Given the description of an element on the screen output the (x, y) to click on. 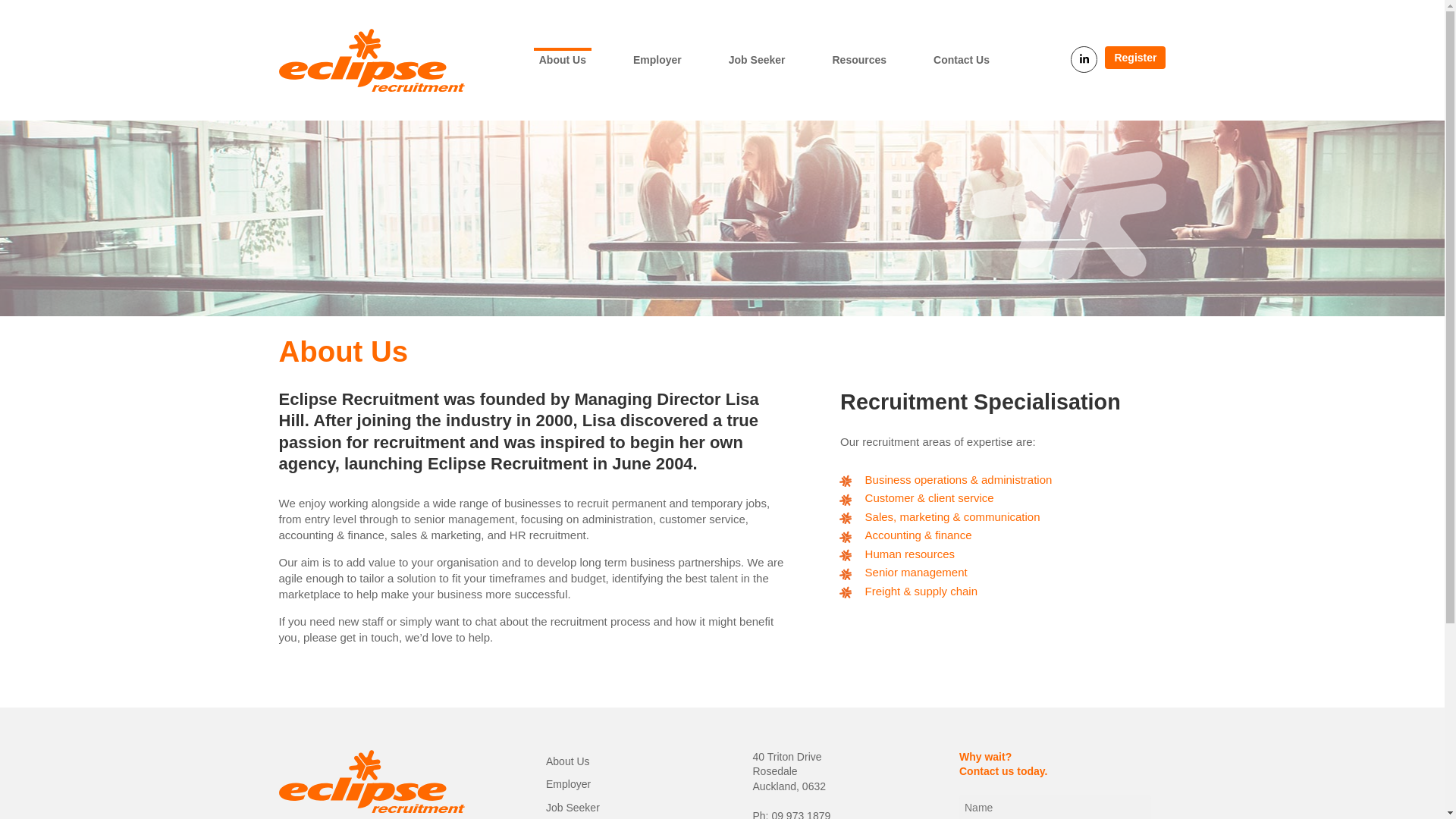
Resources (859, 59)
Job Seeker (756, 59)
Employer (657, 59)
About Us (562, 59)
Contact Us (961, 59)
snow-flake (1067, 186)
